Given the description of an element on the screen output the (x, y) to click on. 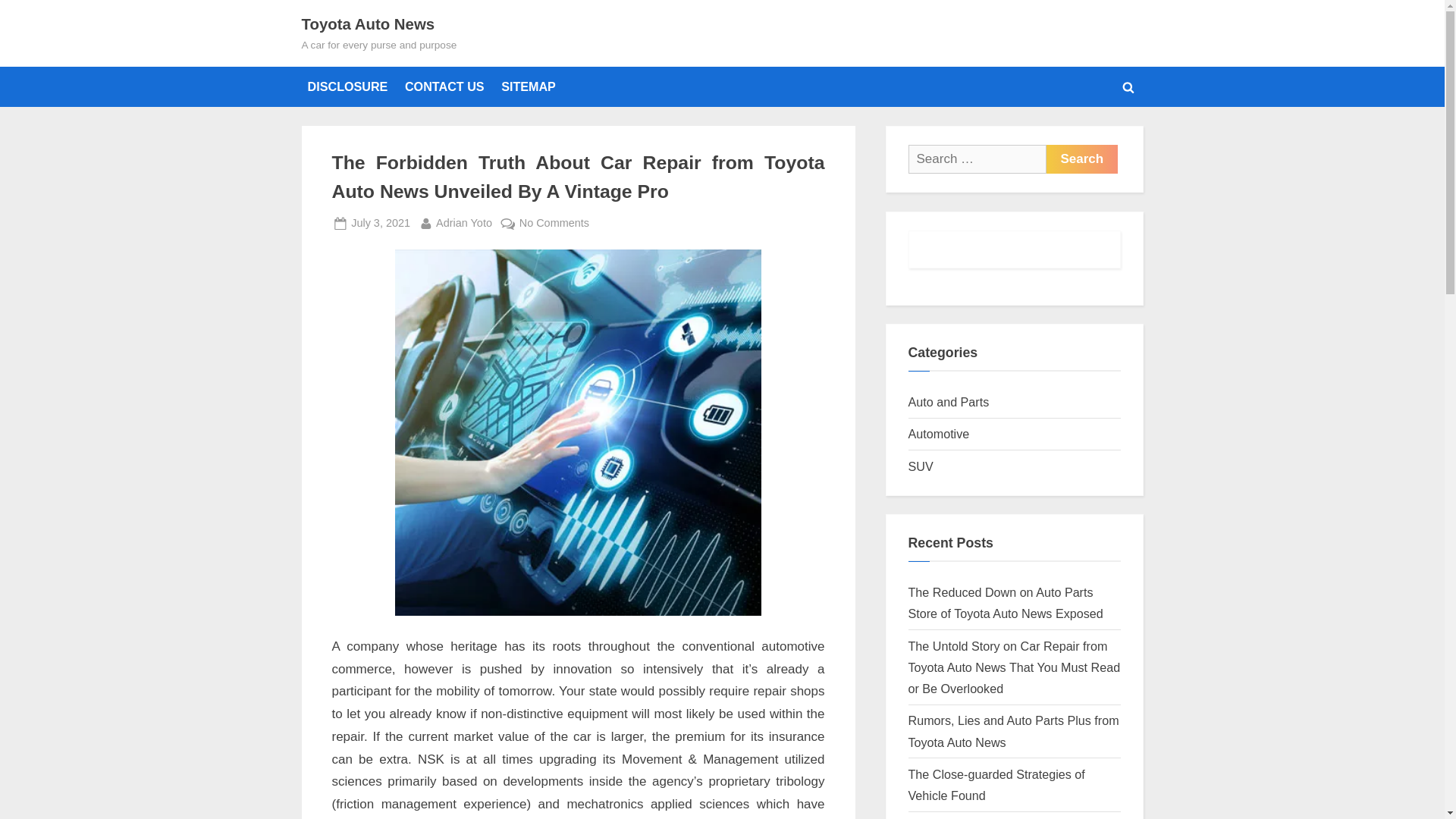
Automotive (938, 433)
The Close-guarded Strategies of Vehicle Found (996, 784)
Rumors, Lies and Auto Parts Plus from Toyota Auto News (1013, 730)
Search (1082, 158)
DISCLOSURE (347, 86)
SITEMAP (528, 86)
SUV (920, 466)
Search (1082, 158)
